Given the description of an element on the screen output the (x, y) to click on. 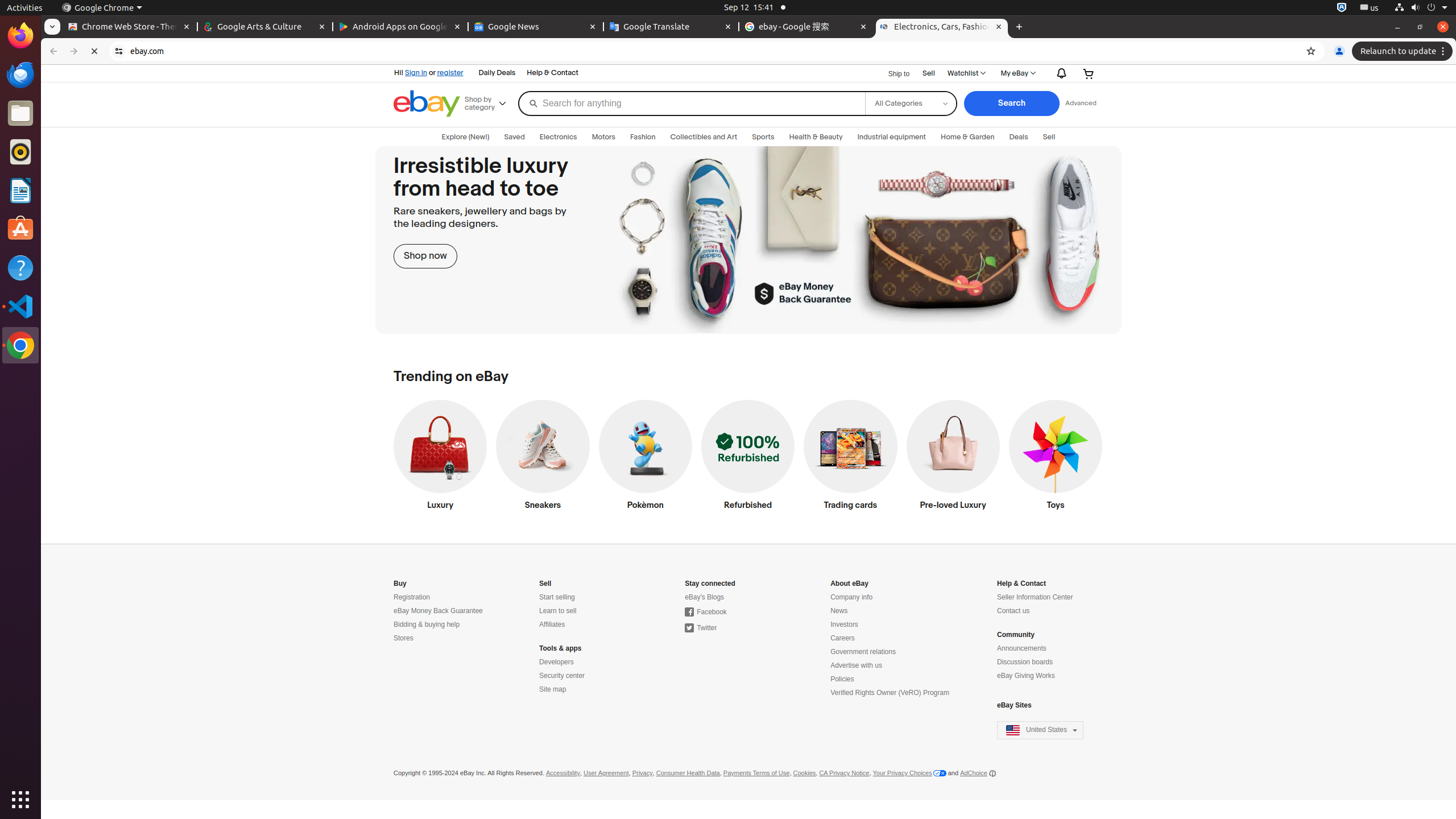
Help & Contact Element type: link (552, 73)
Reload Element type: push-button (94, 50)
Security center Element type: link (562, 675)
My eBay Element type: link (1017, 73)
News Element type: link (839, 610)
